Given the description of an element on the screen output the (x, y) to click on. 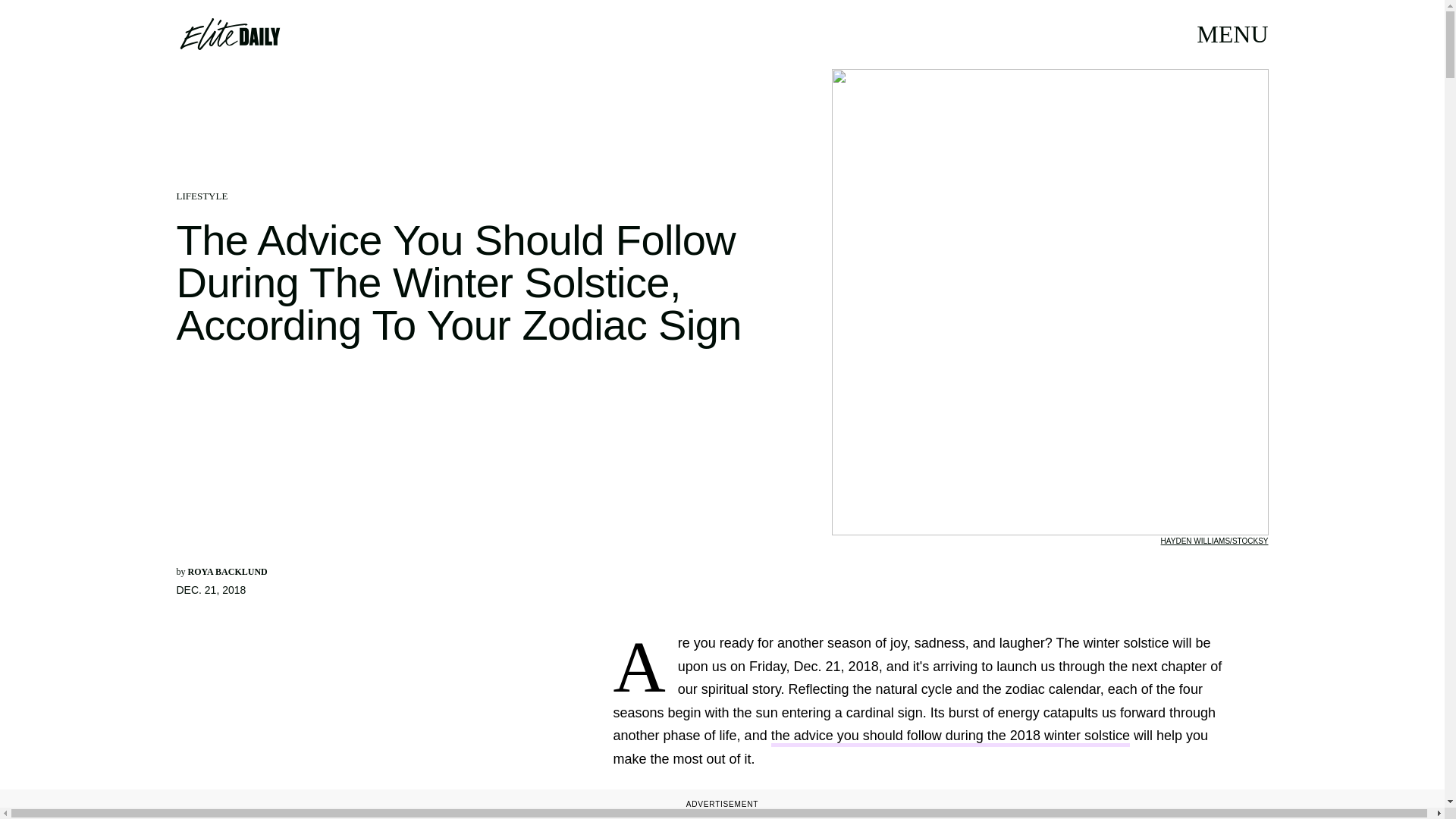
Elite Daily (229, 33)
ROYA BACKLUND (227, 571)
the advice you should follow during the 2018 winter solstice (950, 737)
